Given the description of an element on the screen output the (x, y) to click on. 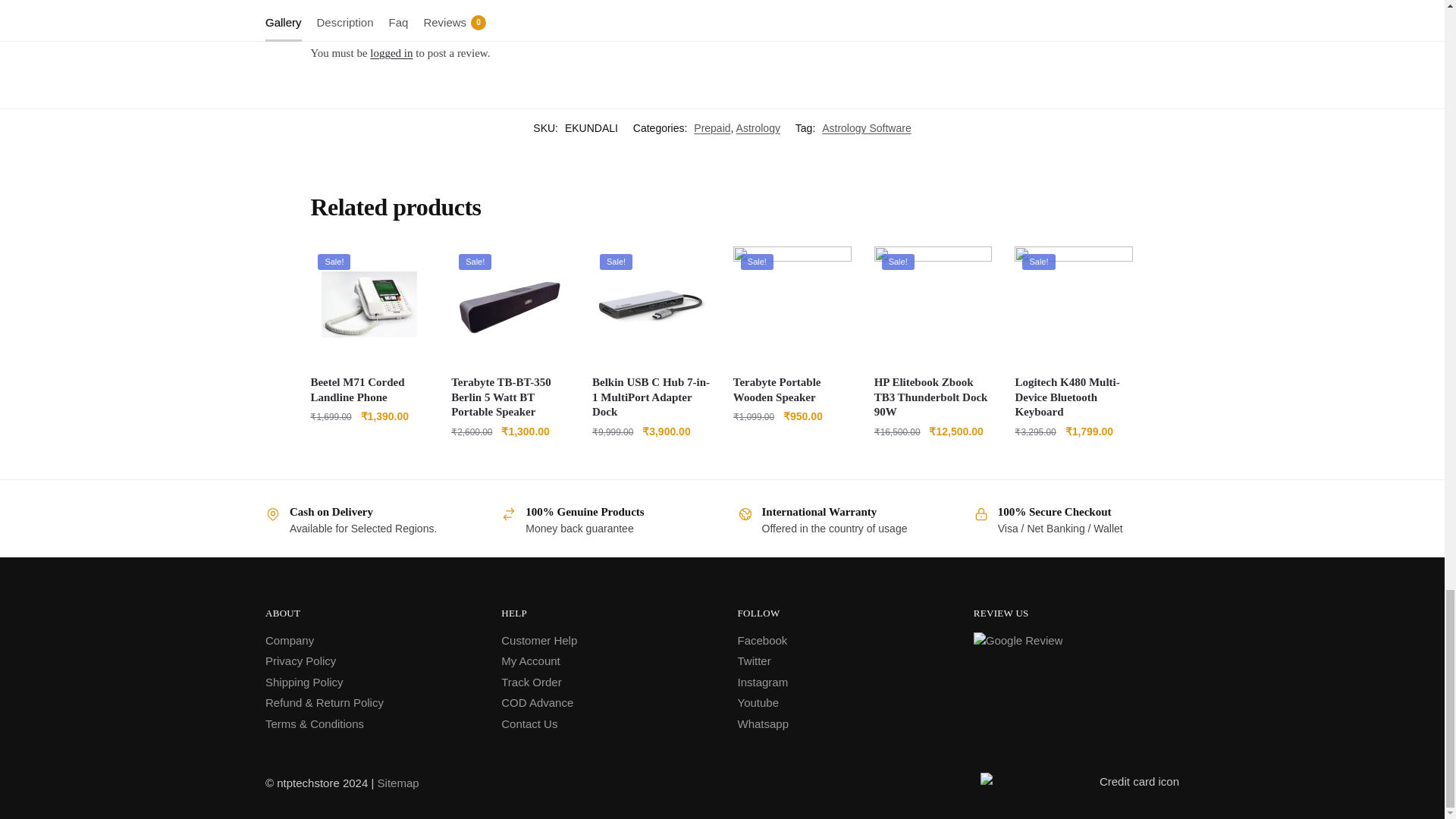
Logitech K480 Multi-Device Bluetooth Keyboard (1073, 305)
Beetel M71 Corded Landline Phone (369, 305)
Terabyte TB-BT-350 Berlin 5 Watt BT Portable Speaker (510, 305)
Belkin USB C Hub 7-in-1 MultiPort Adapter Dock (651, 305)
Credit Card (1079, 783)
Terabyte Portable Wooden Speaker (792, 305)
HP Elitebook Zbook TB3 Thunderbolt Dock 90W (933, 305)
